Given the description of an element on the screen output the (x, y) to click on. 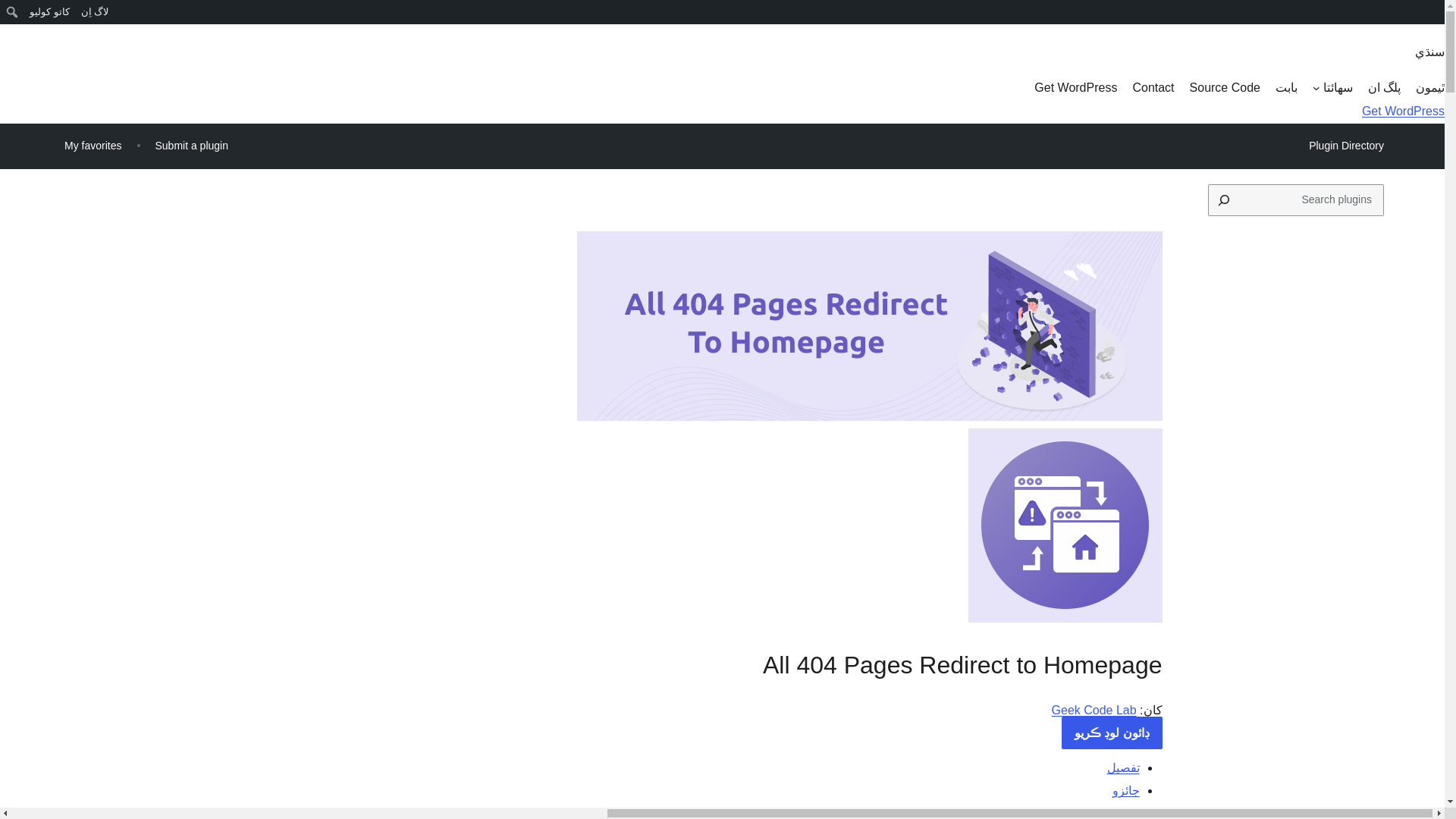
Source Code (1224, 87)
My favorites (93, 145)
WordPress.org (1433, 16)
Geek Code Lab (1094, 709)
Submit a plugin (191, 145)
WordPress.org (1433, 10)
Get WordPress (1074, 87)
Plugin Directory (1345, 145)
Get WordPress (1402, 110)
Contact (1152, 87)
